Given the description of an element on the screen output the (x, y) to click on. 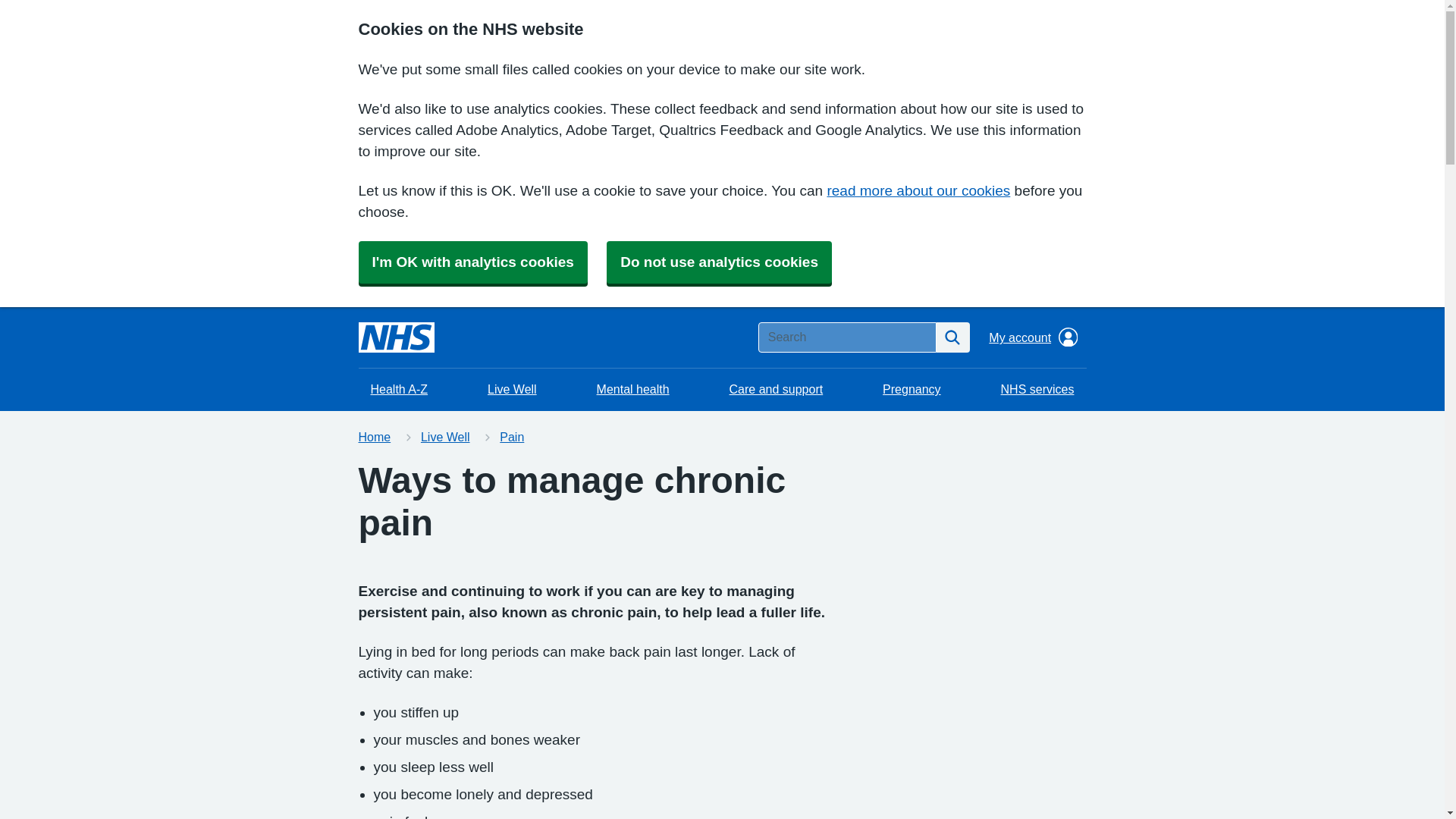
Health A-Z (398, 389)
Live Well (512, 389)
I'm OK with analytics cookies (472, 261)
Care and support (776, 389)
Live Well (445, 436)
Search (952, 337)
Home (374, 436)
Mental health (633, 389)
Do not use analytics cookies (719, 261)
NHS services (1037, 389)
